Given the description of an element on the screen output the (x, y) to click on. 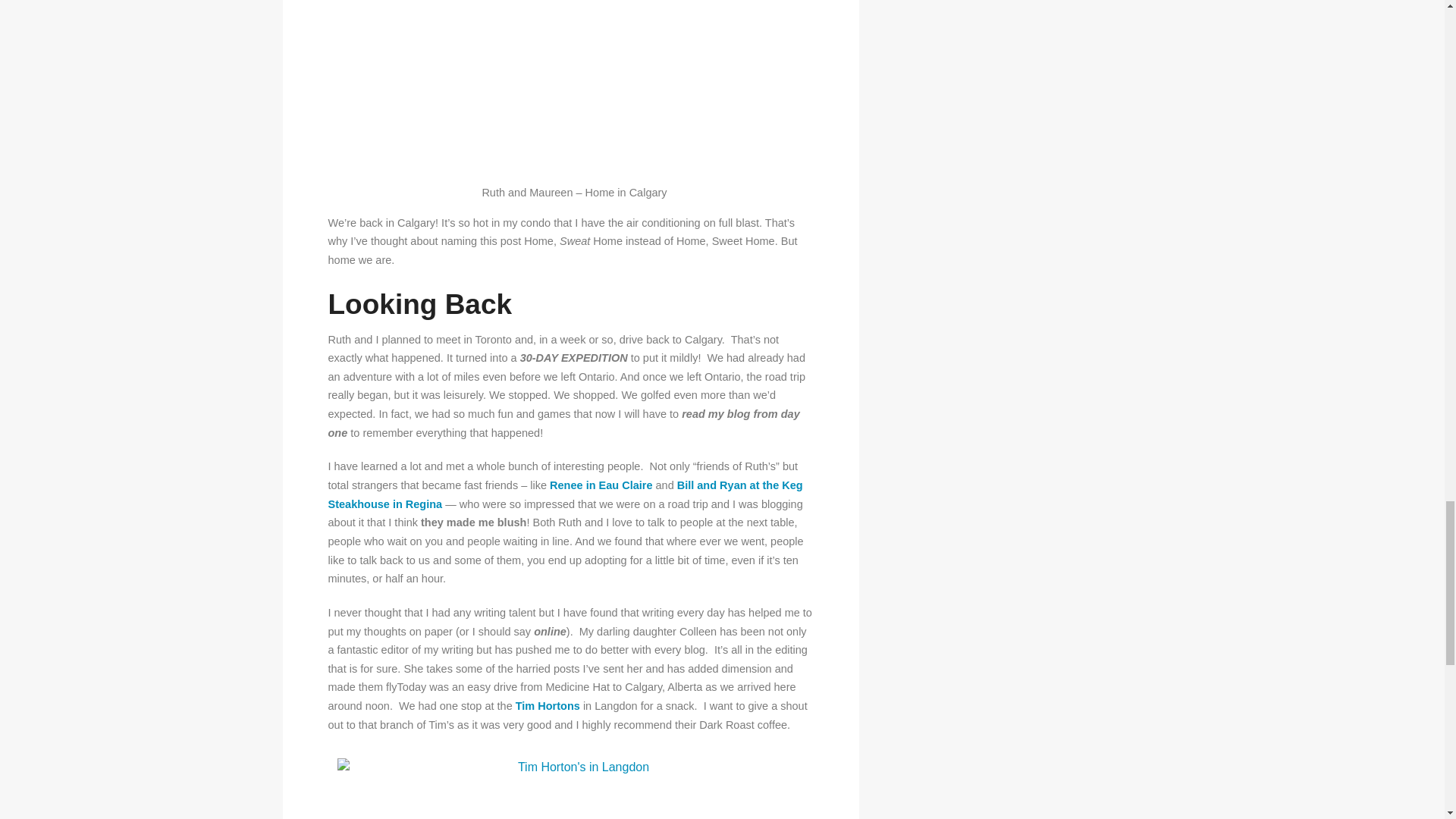
Tim Hortons (547, 705)
Renee in Eau Claire (601, 485)
Bill and Ryan at the Keg Steakhouse in Regina (564, 494)
